Given the description of an element on the screen output the (x, y) to click on. 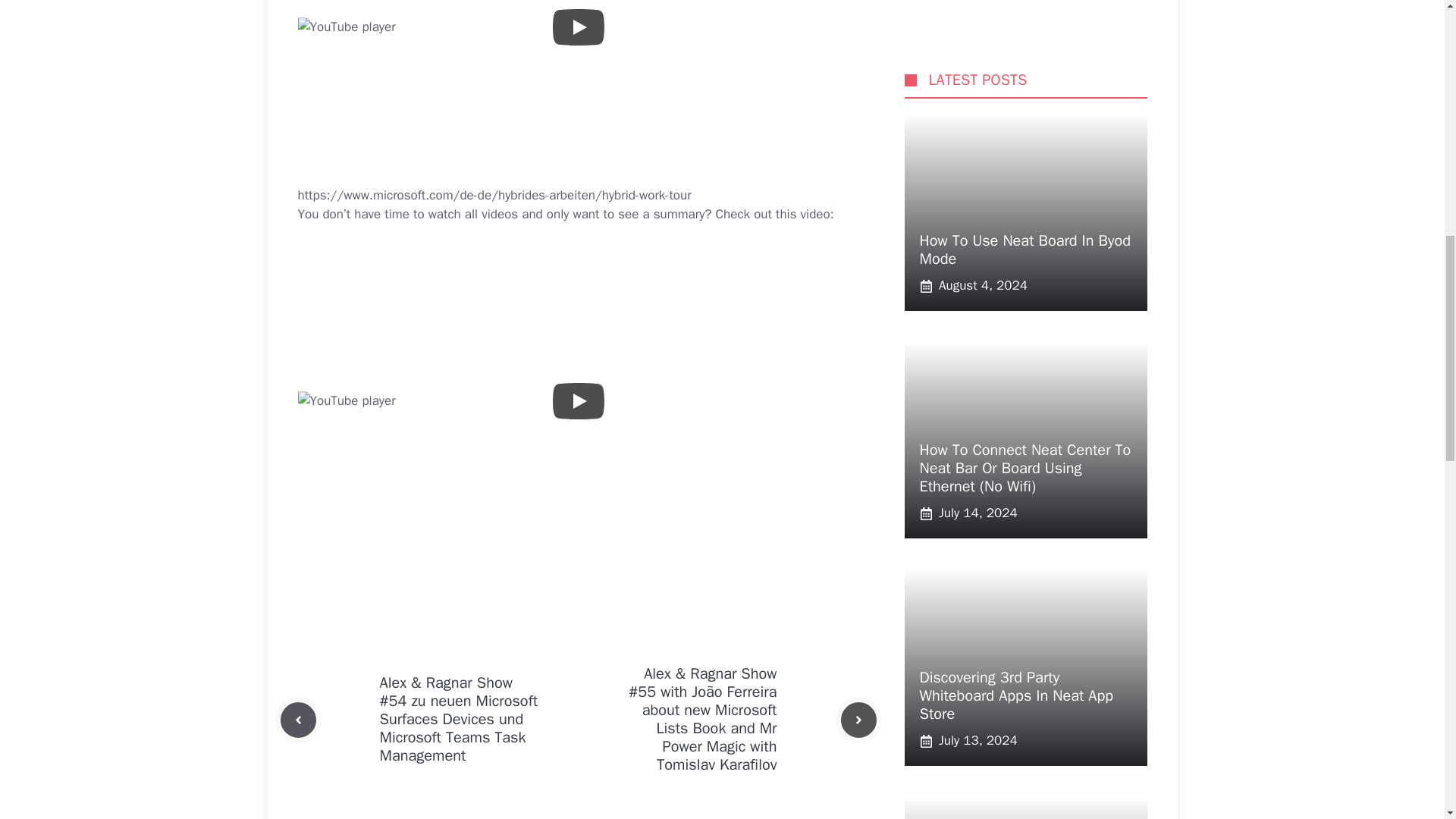
Scroll back to top (1406, 720)
Discovering 3rd Party Whiteboard Apps In Neat App Store (1015, 281)
How to use neat board in byod mode (1081, 624)
